Given the description of an element on the screen output the (x, y) to click on. 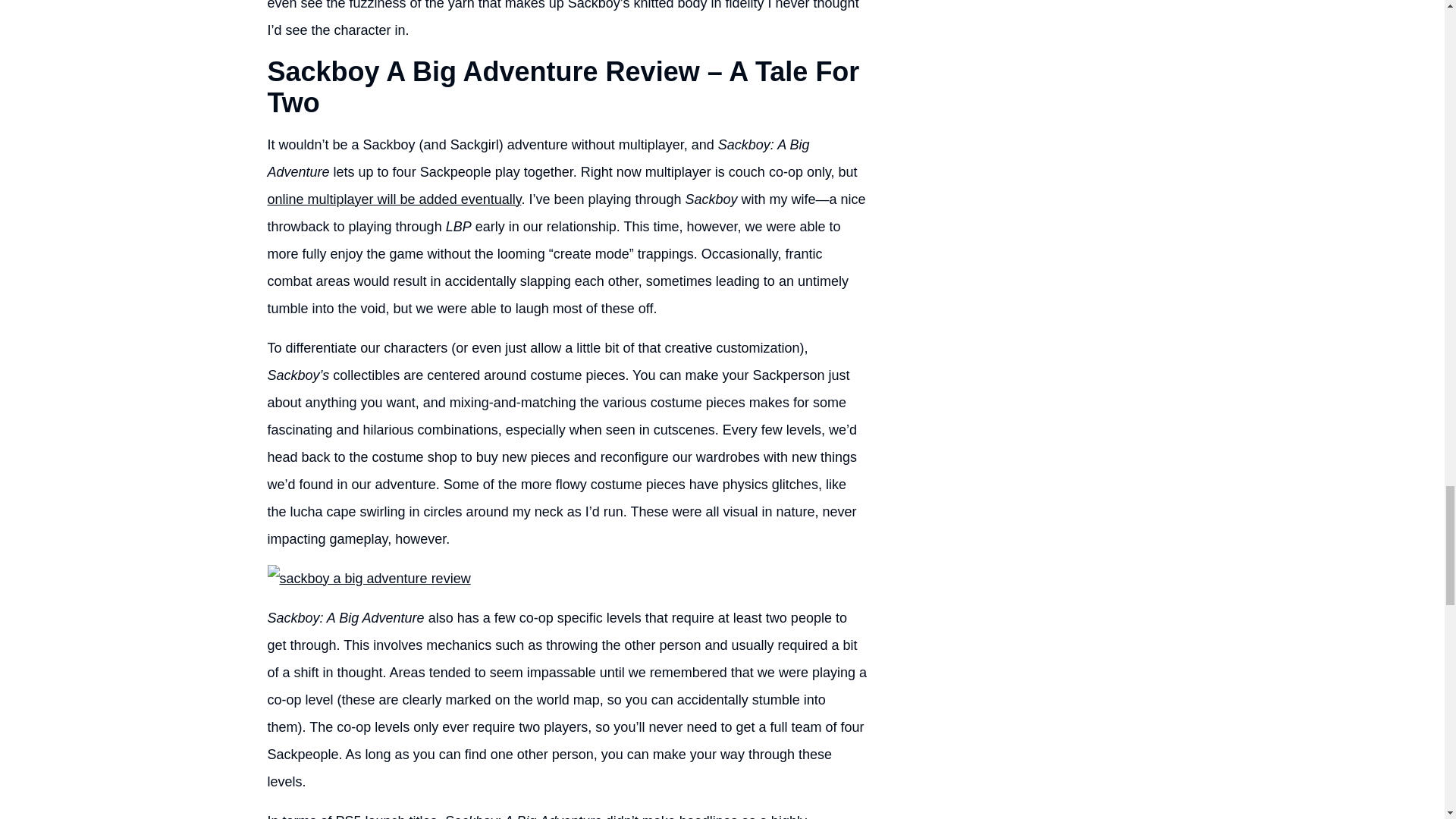
online multiplayer will be added eventually (393, 199)
